Given the description of an element on the screen output the (x, y) to click on. 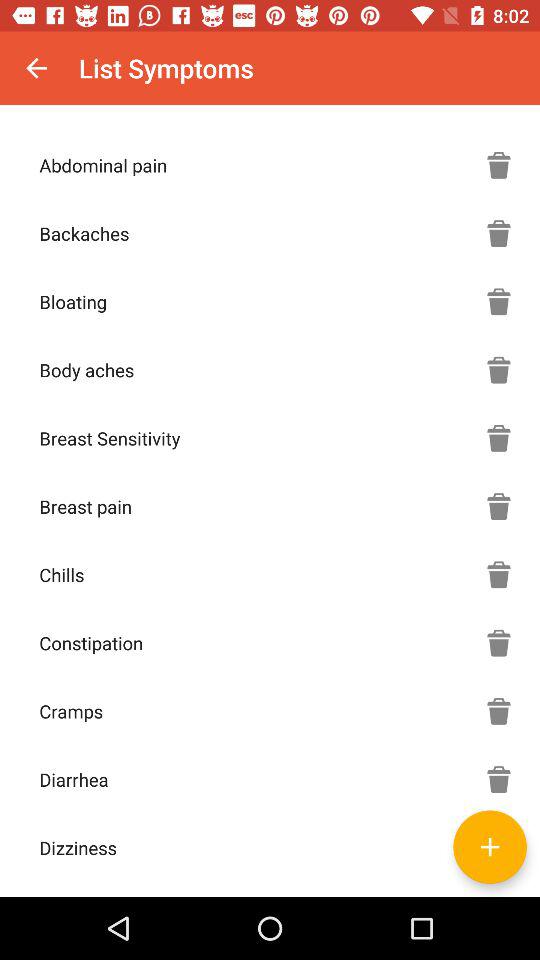
delet option (499, 438)
